Given the description of an element on the screen output the (x, y) to click on. 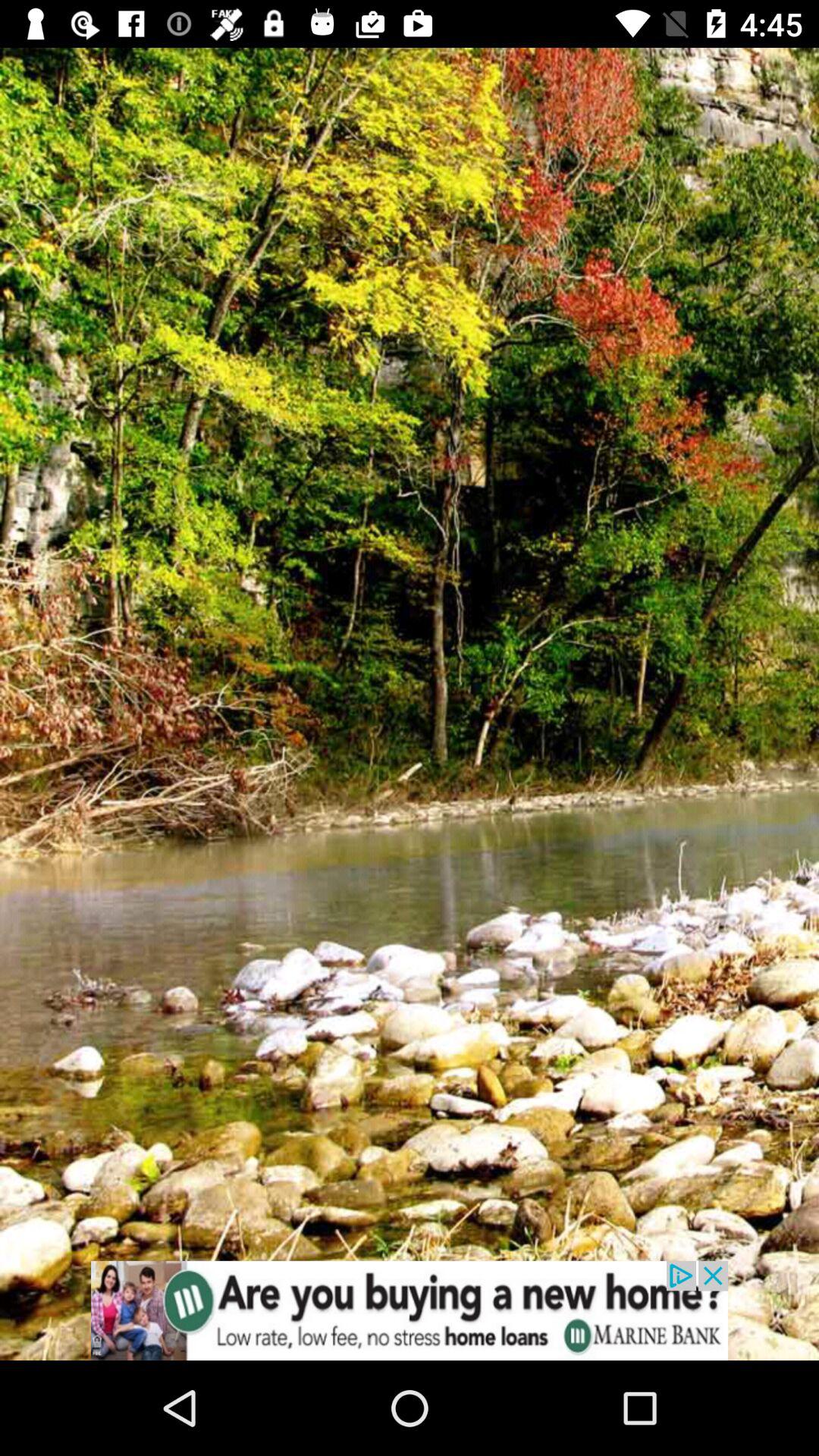
add option (409, 1310)
